Given the description of an element on the screen output the (x, y) to click on. 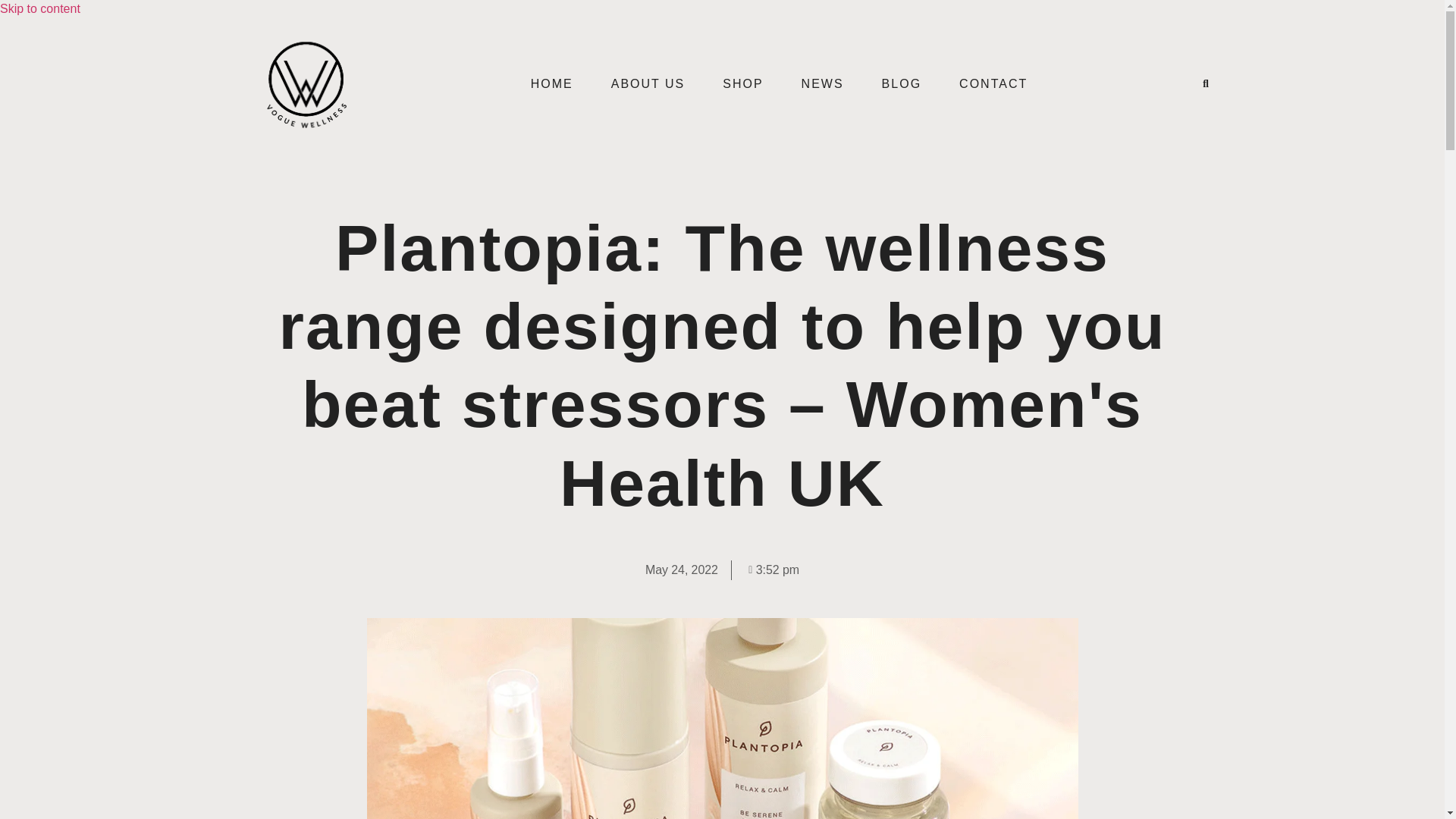
ABOUT US (648, 84)
BLOG (901, 84)
Skip to content (40, 8)
HOME (552, 84)
NEWS (823, 84)
SHOP (742, 84)
CONTACT (993, 84)
